Given the description of an element on the screen output the (x, y) to click on. 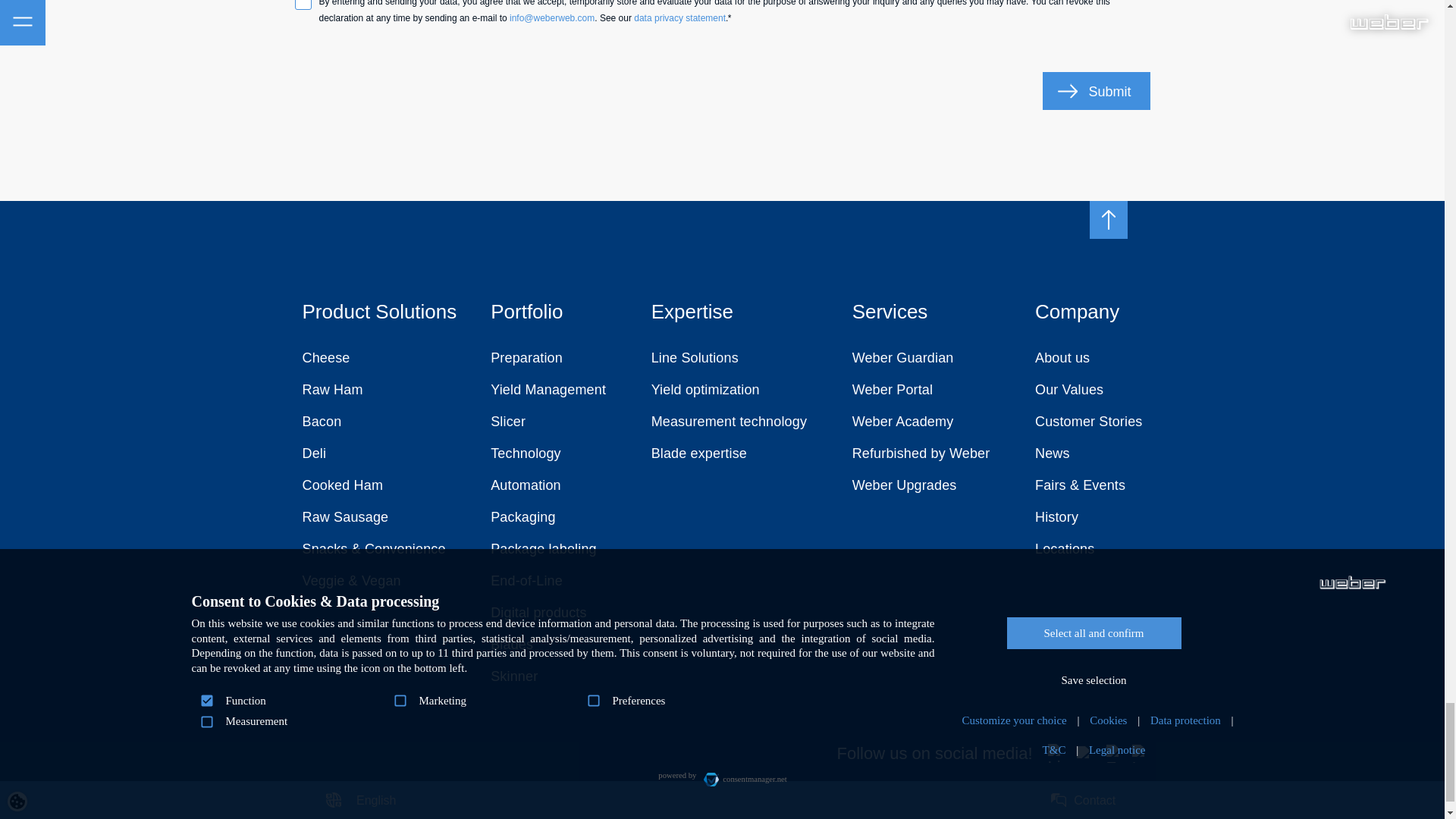
1 (302, 4)
